Given the description of an element on the screen output the (x, y) to click on. 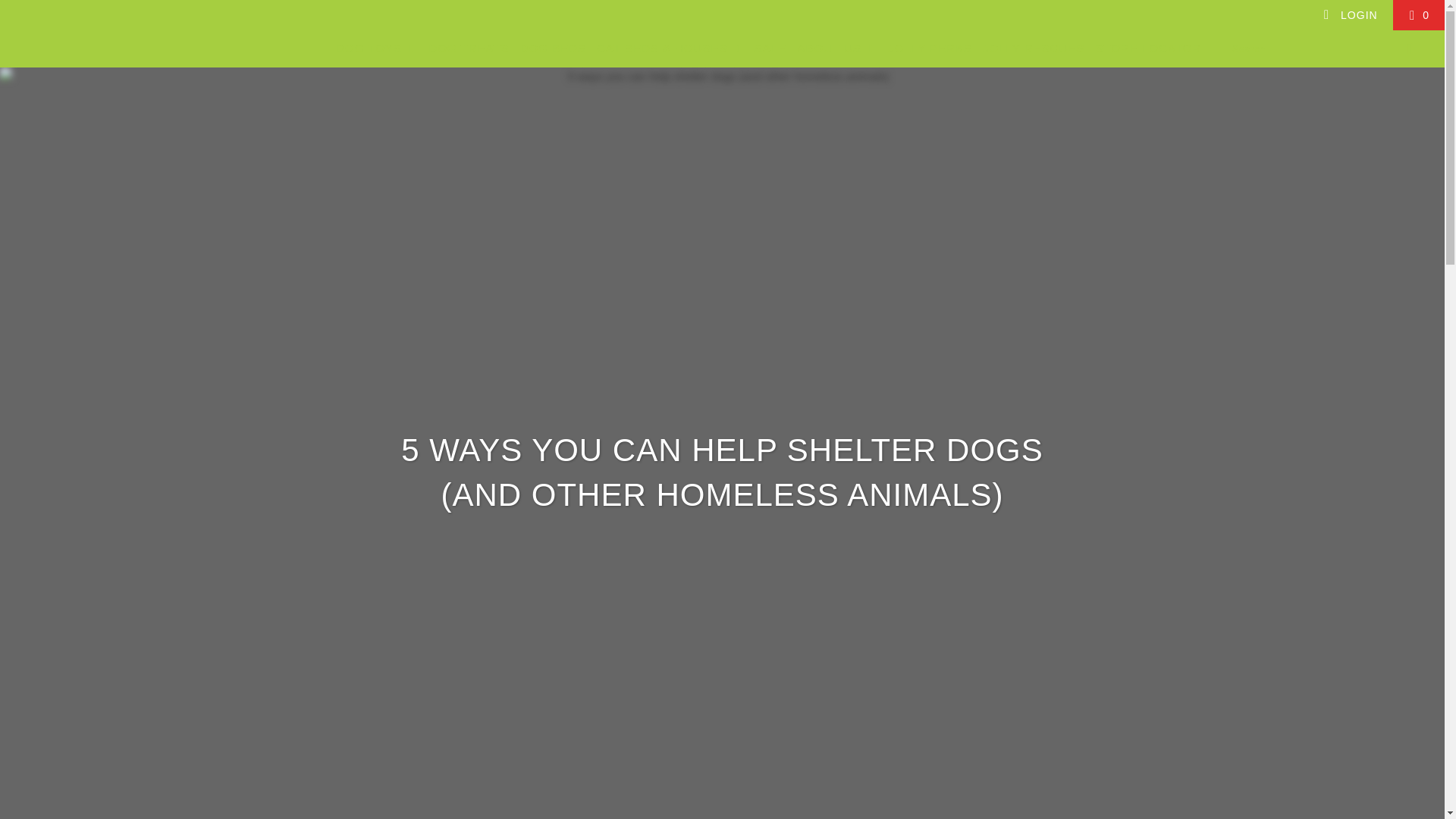
My Account  (1350, 15)
Jolly Pets (122, 32)
